Given the description of an element on the screen output the (x, y) to click on. 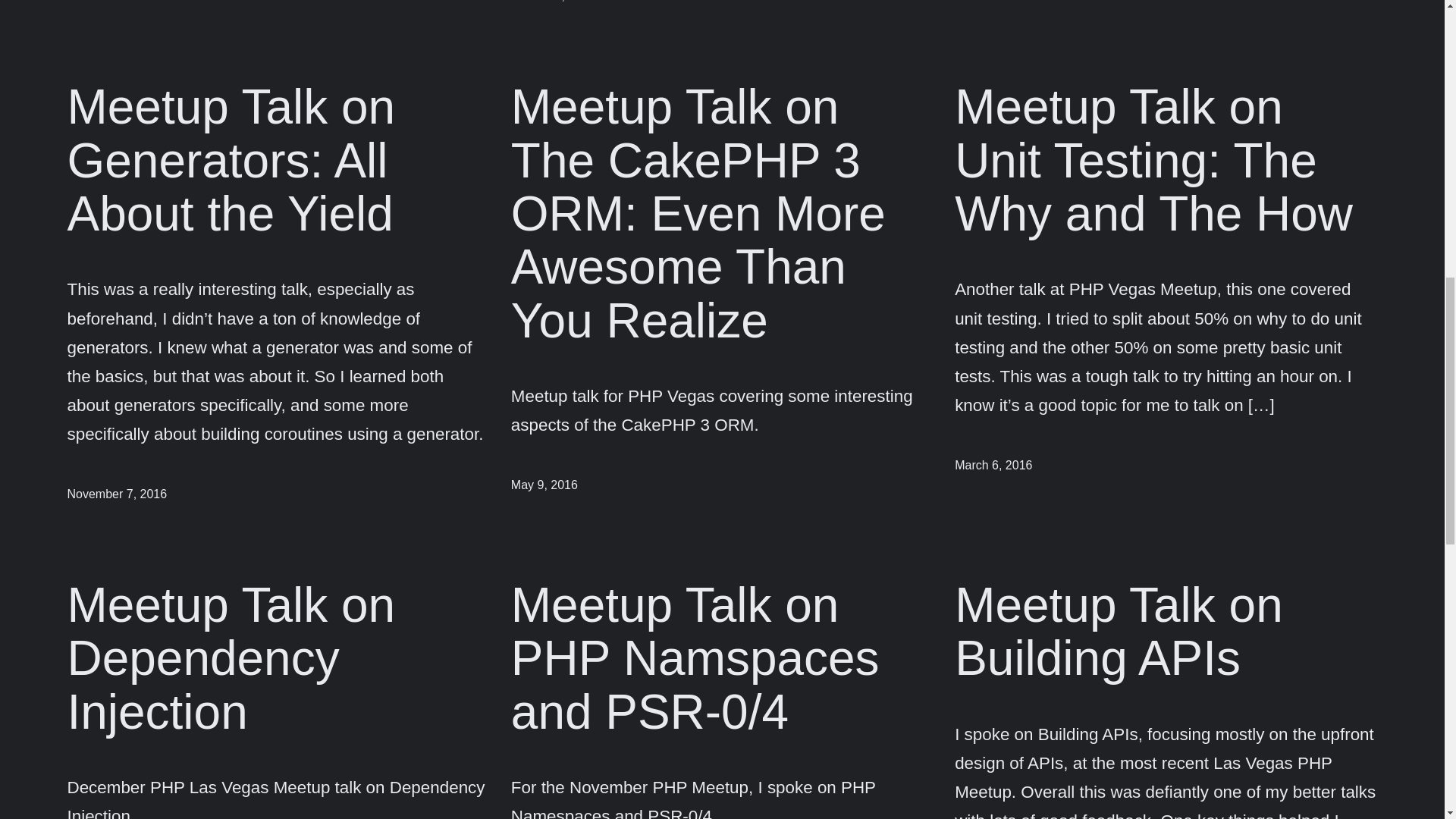
Meetup Talk on Unit Testing: The Why and The How (1166, 160)
Meetup Talk on Building APIs (1166, 631)
May 9, 2016 (544, 484)
March 6, 2016 (993, 464)
Meetup Talk on Dependency Injection (277, 658)
November 7, 2016 (116, 493)
Meetup Talk on Generators: All About the Yield (277, 160)
March 31, 2017 (553, 1)
